Given the description of an element on the screen output the (x, y) to click on. 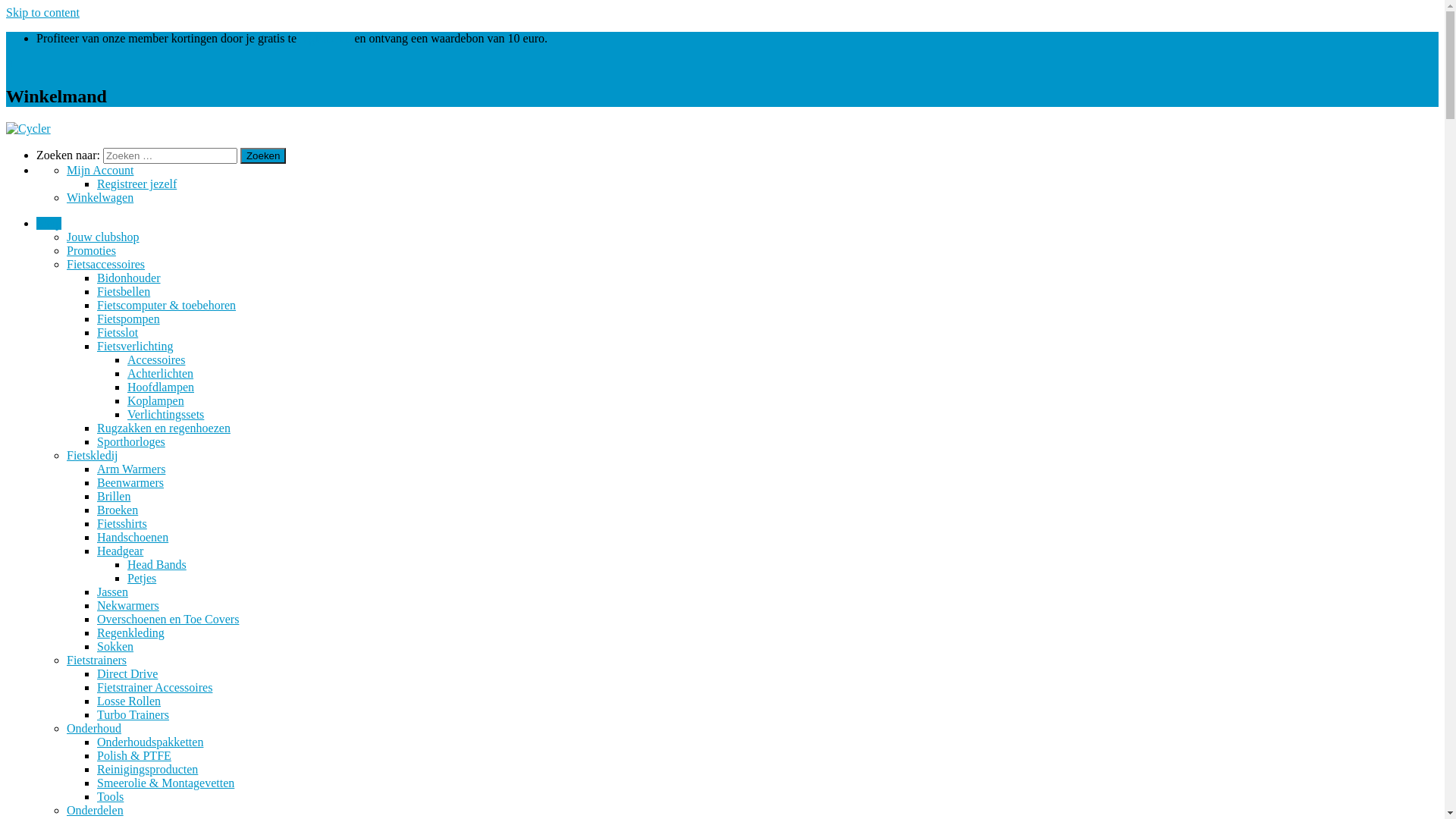
Fietscomputer & toebehoren Element type: text (166, 304)
Koplampen Element type: text (155, 400)
Fietsbellen Element type: text (123, 291)
Regenkleding Element type: text (130, 632)
Polish & PTFE Element type: text (134, 755)
Petjes Element type: text (141, 577)
Jassen Element type: text (112, 591)
Overschoenen en Toe Covers Element type: text (167, 618)
Nekwarmers Element type: text (128, 605)
Shop Element type: text (48, 222)
Bidonhouder Element type: text (128, 277)
Smeerolie & Montagevetten Element type: text (165, 782)
Rugzakken en regenhoezen Element type: text (163, 427)
Promoties Element type: text (91, 250)
Headgear Element type: text (120, 550)
Jouw clubshop Element type: text (102, 236)
Fietsslot Element type: text (117, 332)
Skip to content Element type: text (42, 12)
Sporthorloges Element type: text (131, 441)
registreren Element type: text (325, 37)
Sokken Element type: text (115, 646)
Winkelwagen Element type: text (99, 197)
Fietskledij Element type: text (92, 454)
Hoofdlampen Element type: text (160, 386)
Arm Warmers Element type: text (131, 468)
Onderhoudspakketten Element type: text (150, 741)
Verlichtingssets Element type: text (165, 413)
Fietstrainer Accessoires Element type: text (154, 686)
Onderdelen Element type: text (94, 809)
Fietsaccessoires Element type: text (105, 263)
Beenwarmers Element type: text (130, 482)
Onderhoud Element type: text (93, 727)
Turbo Trainers Element type: text (133, 714)
Broeken Element type: text (117, 509)
Fietsverlichting Element type: text (134, 345)
Fietstrainers Element type: text (96, 659)
Direct Drive Element type: text (127, 673)
0 Element type: text (9, 63)
Achterlichten Element type: text (160, 373)
Zoeken Element type: text (262, 155)
Reinigingsproducten Element type: text (147, 768)
Fietspompen Element type: text (128, 318)
Brillen Element type: text (113, 495)
Handschoenen Element type: text (132, 536)
Mijn Account Element type: text (99, 169)
Losse Rollen Element type: text (128, 700)
Fietsshirts Element type: text (122, 523)
Tools Element type: text (110, 796)
Head Bands Element type: text (156, 564)
Registreer jezelf Element type: text (136, 183)
Accessoires Element type: text (156, 359)
